Given the description of an element on the screen output the (x, y) to click on. 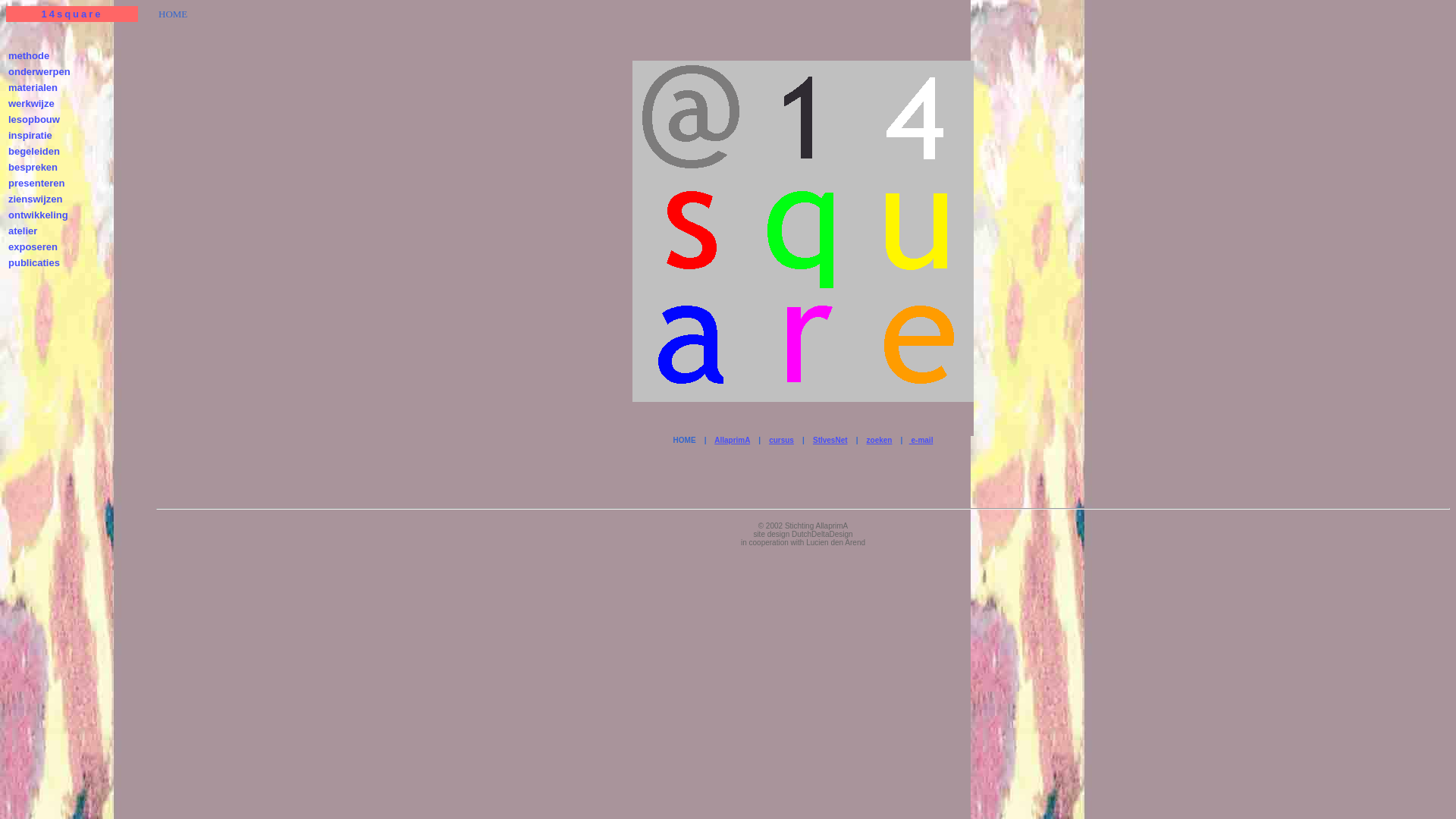
begeleiden Element type: text (33, 150)
AllaprimA Element type: text (731, 440)
e-mail Element type: text (921, 440)
ontwikkeling Element type: text (38, 214)
publicaties Element type: text (33, 262)
14square Element type: text (71, 13)
lesopbouw Element type: text (33, 119)
atelier Element type: text (22, 230)
exposeren Element type: text (32, 246)
materialen Element type: text (32, 87)
cursus Element type: text (780, 440)
StIvesNet Element type: text (829, 440)
bespreken Element type: text (32, 166)
methode Element type: text (28, 55)
inspiratie Element type: text (30, 135)
zoeken Element type: text (879, 440)
onderwerpen Element type: text (39, 71)
werkwijze Element type: text (31, 103)
presenteren Element type: text (36, 182)
Stichting AllaprimA Element type: text (815, 525)
Lucien den Arend Element type: text (835, 542)
zienswijzen Element type: text (35, 198)
DutchDeltaDesign Element type: text (822, 534)
